Given the description of an element on the screen output the (x, y) to click on. 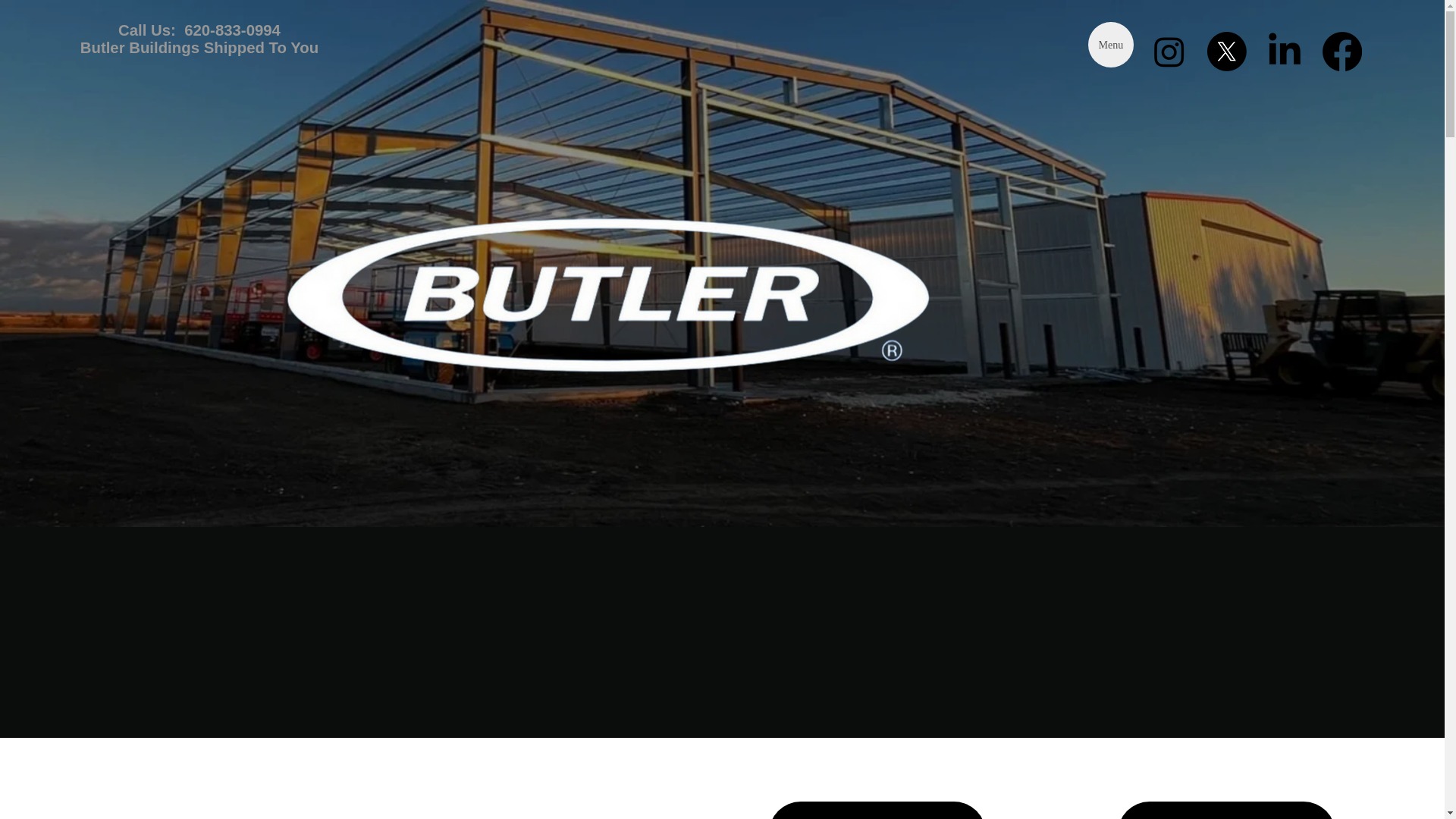
Menu (1110, 44)
Buy a Butler Building (877, 810)
Buy a Butler Mezzanine (1226, 810)
